Given the description of an element on the screen output the (x, y) to click on. 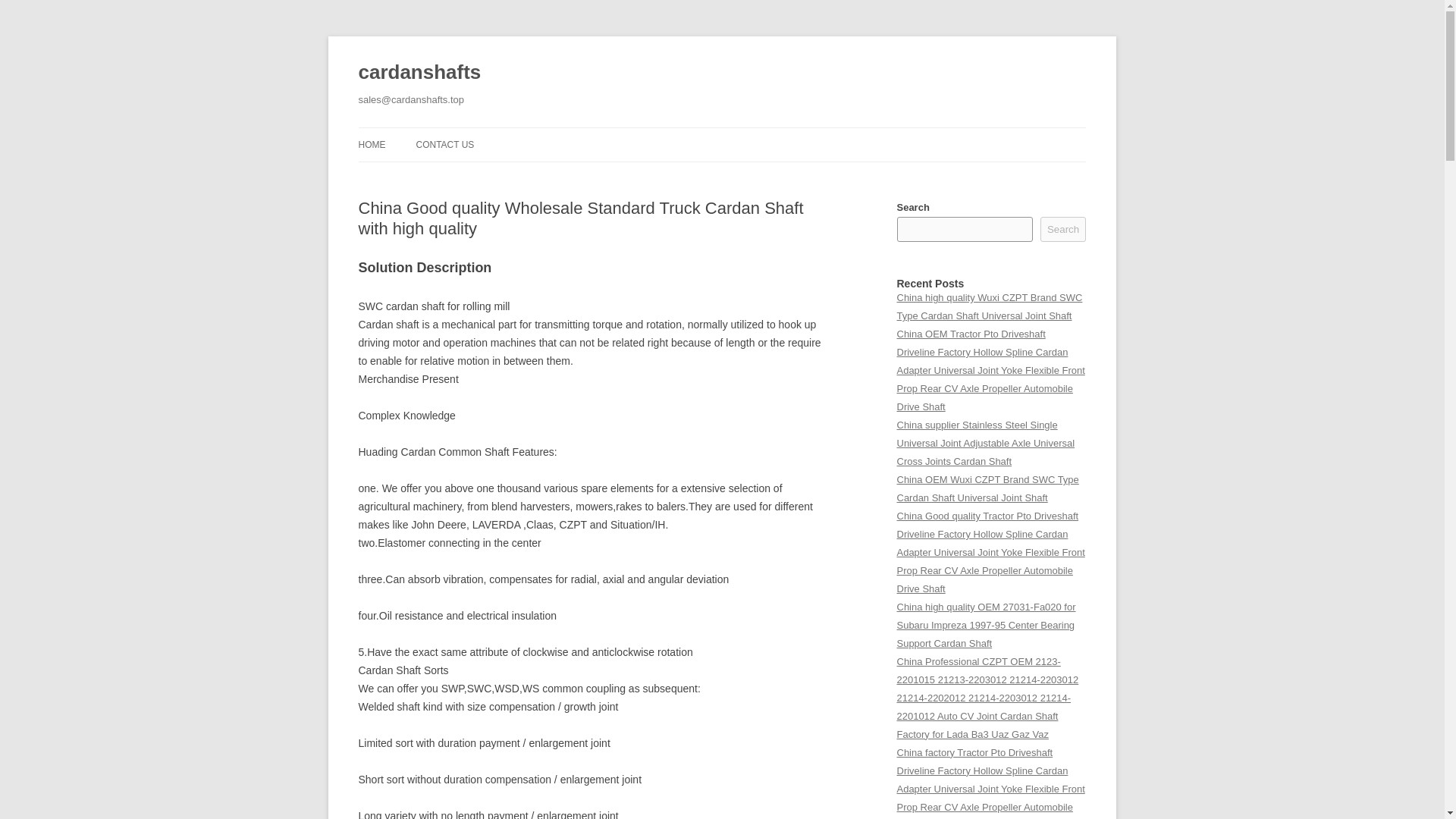
cardanshafts (419, 72)
CONTACT US (444, 144)
